Given the description of an element on the screen output the (x, y) to click on. 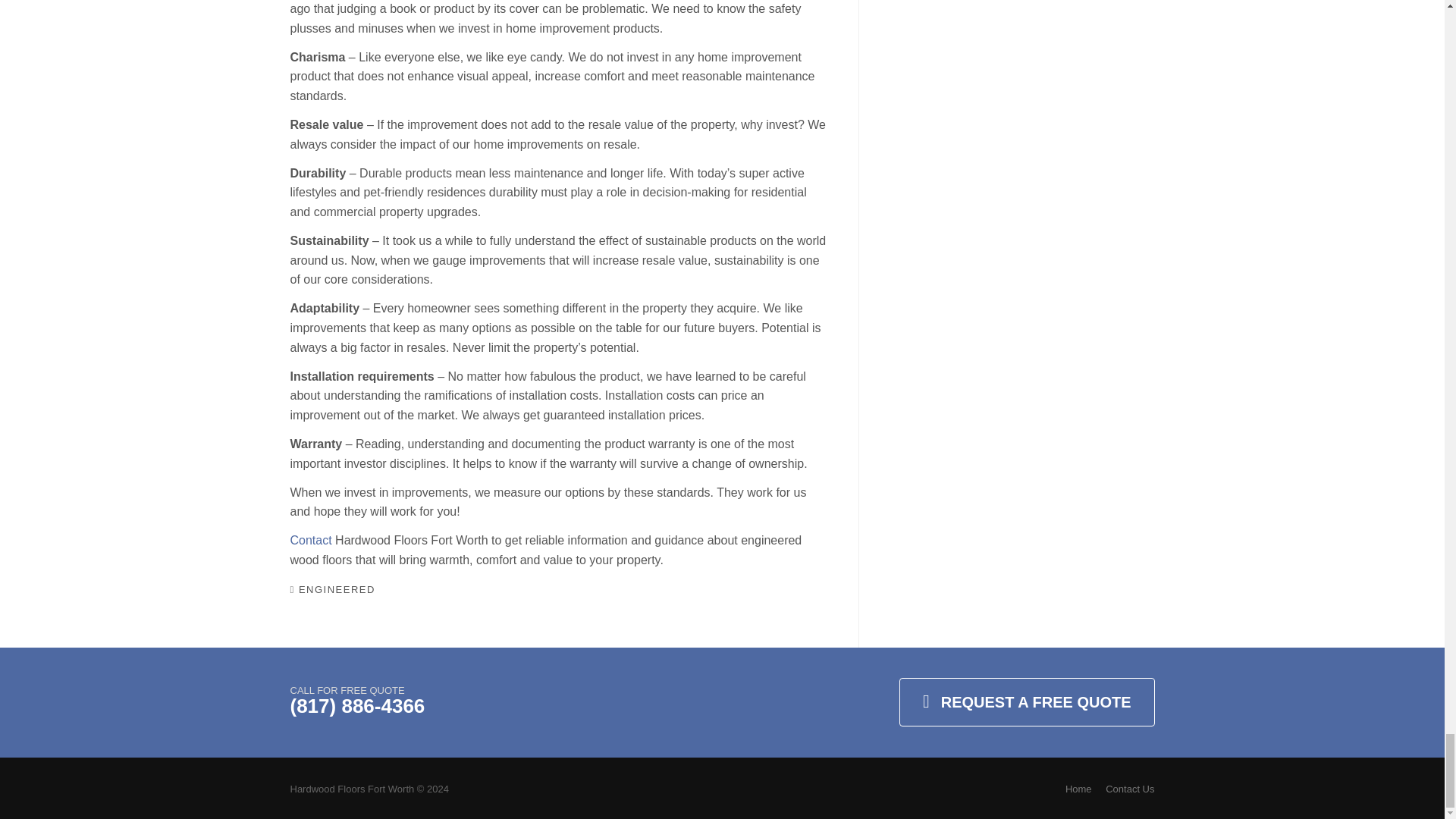
ENGINEERED (336, 589)
Contact Us (1129, 788)
REQUEST A FREE QUOTE (1026, 702)
Home (1078, 788)
Contact (310, 540)
